Given the description of an element on the screen output the (x, y) to click on. 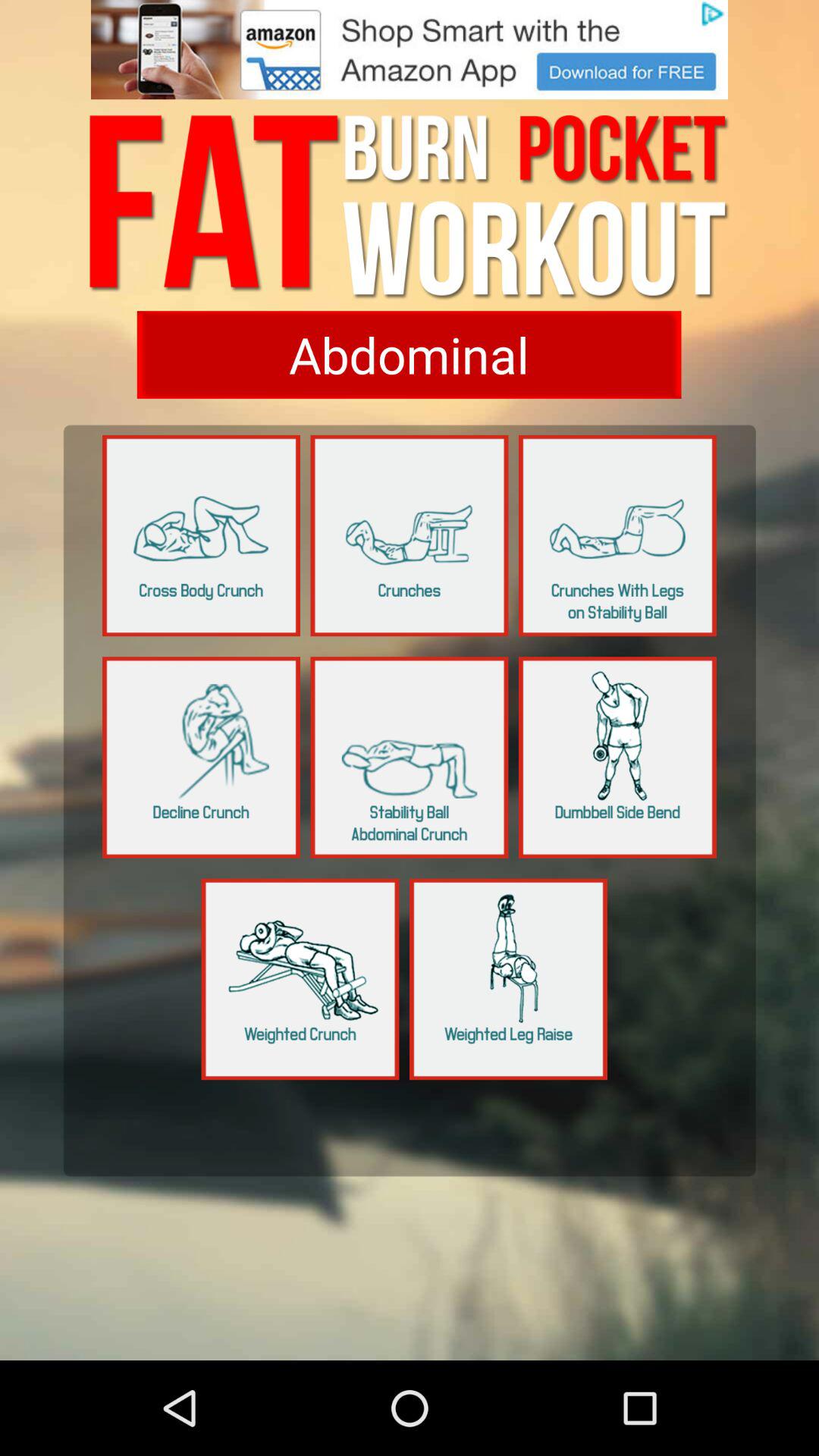
weighted crunch (300, 979)
